Given the description of an element on the screen output the (x, y) to click on. 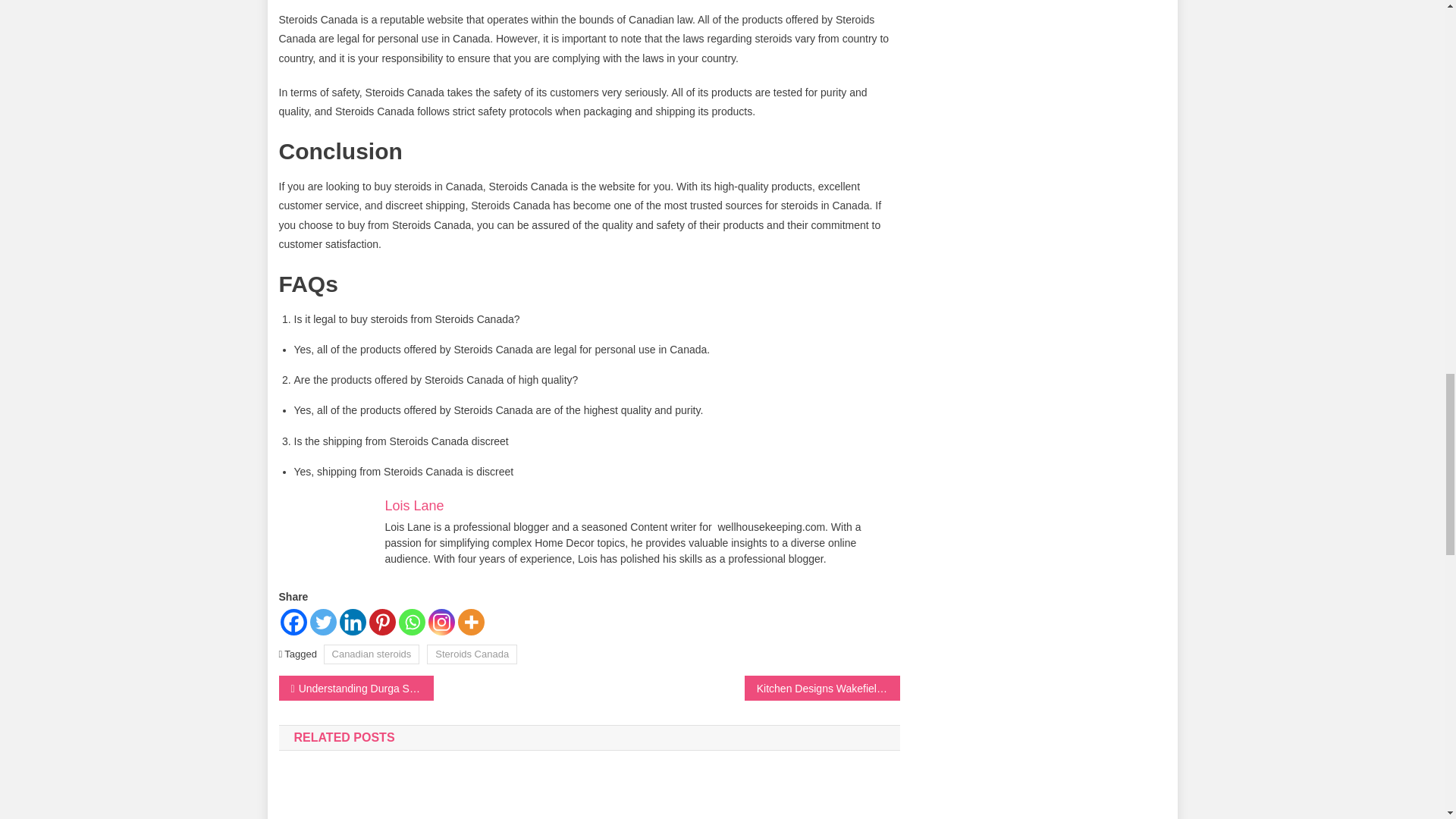
Twitter (322, 622)
Lois Lane (414, 505)
Linkedin (352, 622)
Facebook (294, 622)
